Given the description of an element on the screen output the (x, y) to click on. 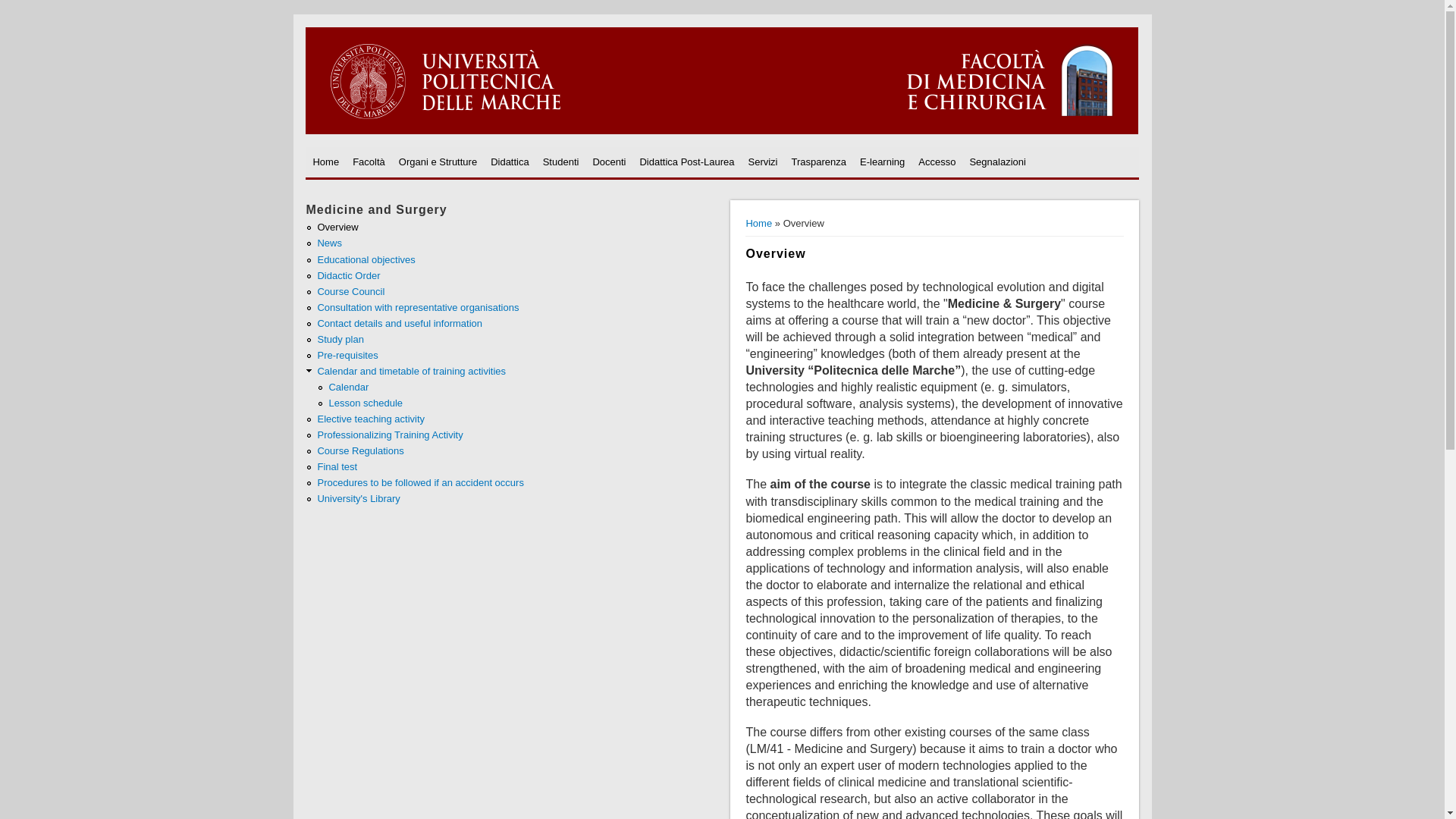
Home (325, 162)
UnivPM (721, 130)
Home (325, 162)
Organi e Strutture (437, 162)
